Given the description of an element on the screen output the (x, y) to click on. 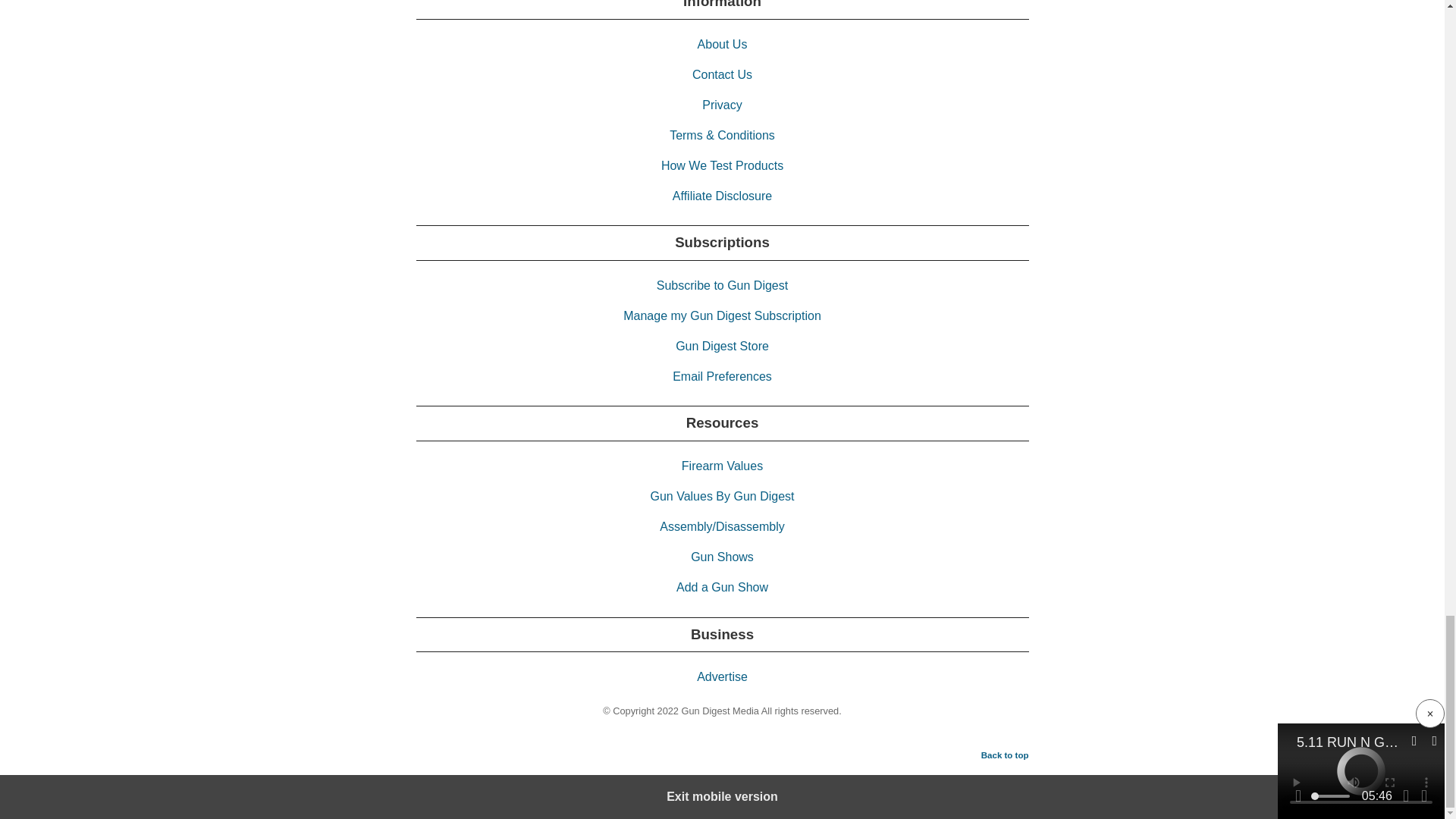
Manage my Gun Digest Subscription (722, 315)
About Us (722, 43)
Subscribe to Gun Digest (721, 285)
on (7, 784)
Firearm Values (721, 465)
How We Test Products (722, 164)
Gun Shows (722, 556)
Advertise (722, 676)
Gun Digest Store (721, 345)
Back to top (1005, 755)
Contact Us (722, 74)
Email Preferences (721, 376)
Add a Gun Show (722, 586)
Gun Values By Gun Digest (721, 495)
Privacy (721, 104)
